Given the description of an element on the screen output the (x, y) to click on. 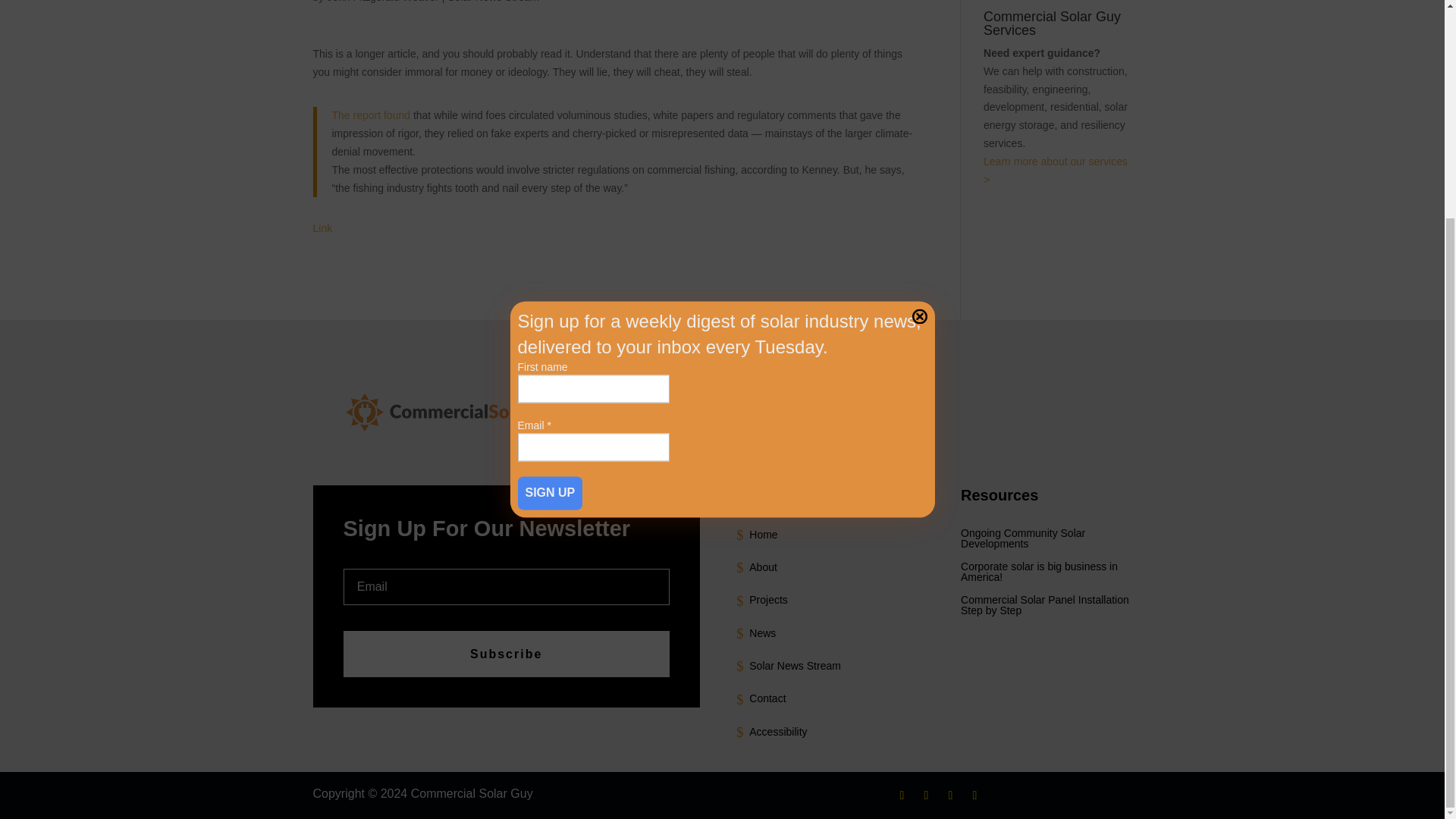
First name (592, 101)
Follow on X (925, 794)
SIGN UP (549, 205)
Email (592, 160)
Solar News Stream (492, 1)
Follow on LinkedIn (949, 794)
Posts by John Fitzgerald Weaver (382, 1)
Follow on Youtube (974, 794)
Follow on Facebook (901, 794)
John Fitzgerald Weaver (382, 1)
